Given the description of an element on the screen output the (x, y) to click on. 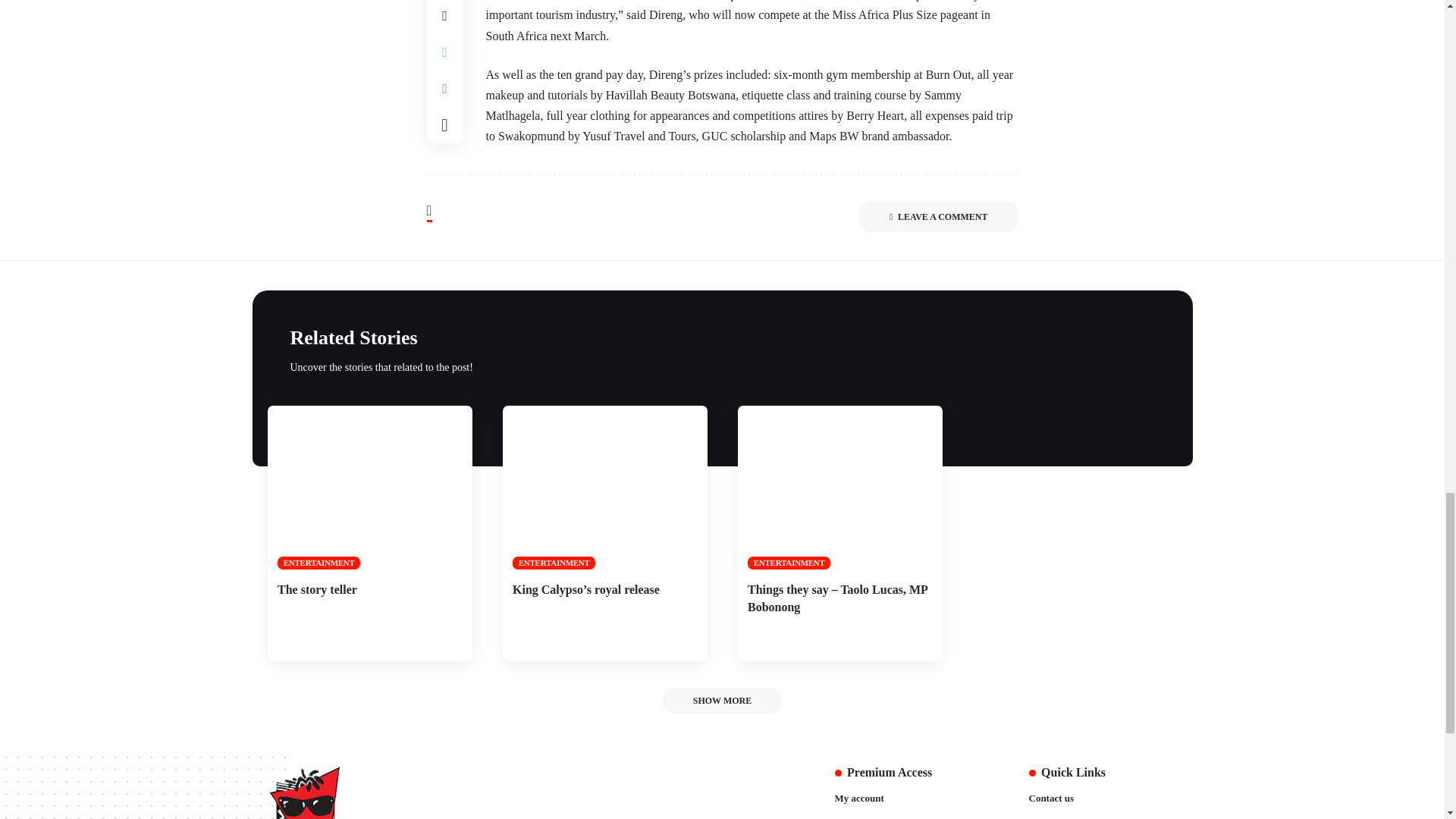
The story teller (368, 487)
